Given the description of an element on the screen output the (x, y) to click on. 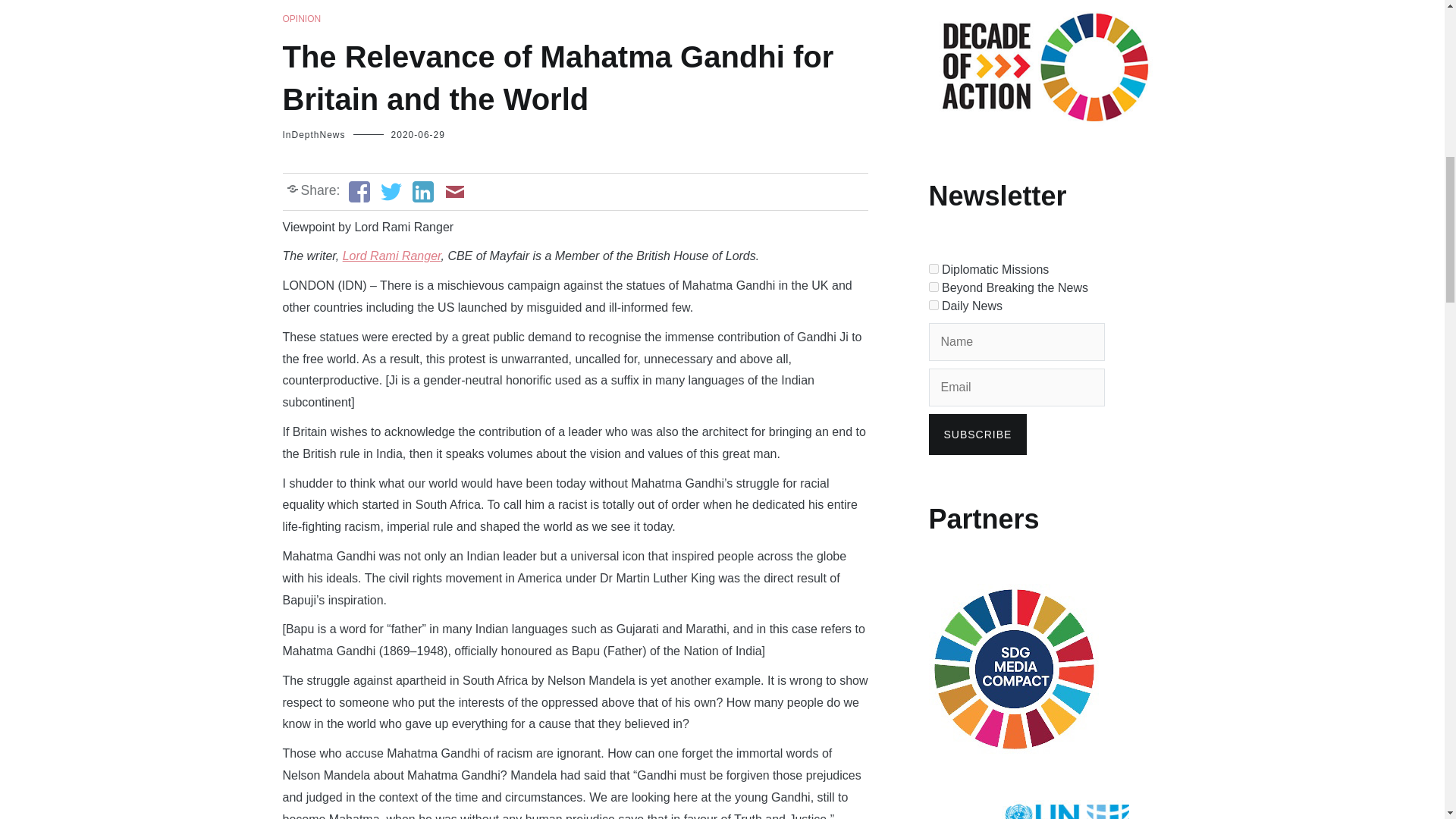
8 (932, 268)
10 (932, 305)
Subscribe (977, 434)
9 (932, 286)
